Given the description of an element on the screen output the (x, y) to click on. 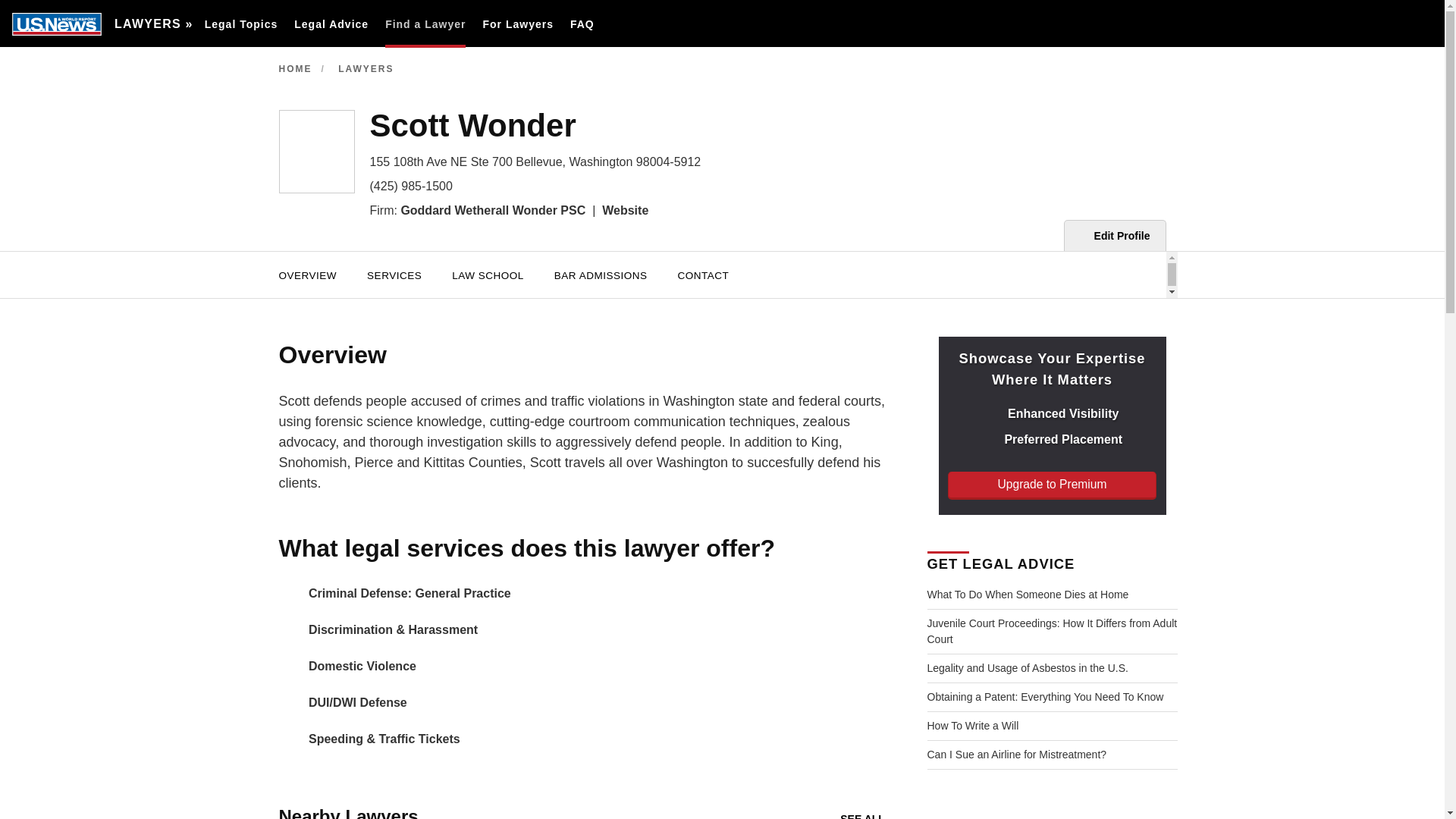
Find a Lawyer (425, 23)
U.S. News (56, 24)
FAQ (582, 23)
Legal Topics (241, 23)
For Lawyers (517, 23)
Legal Advice (331, 23)
